Given the description of an element on the screen output the (x, y) to click on. 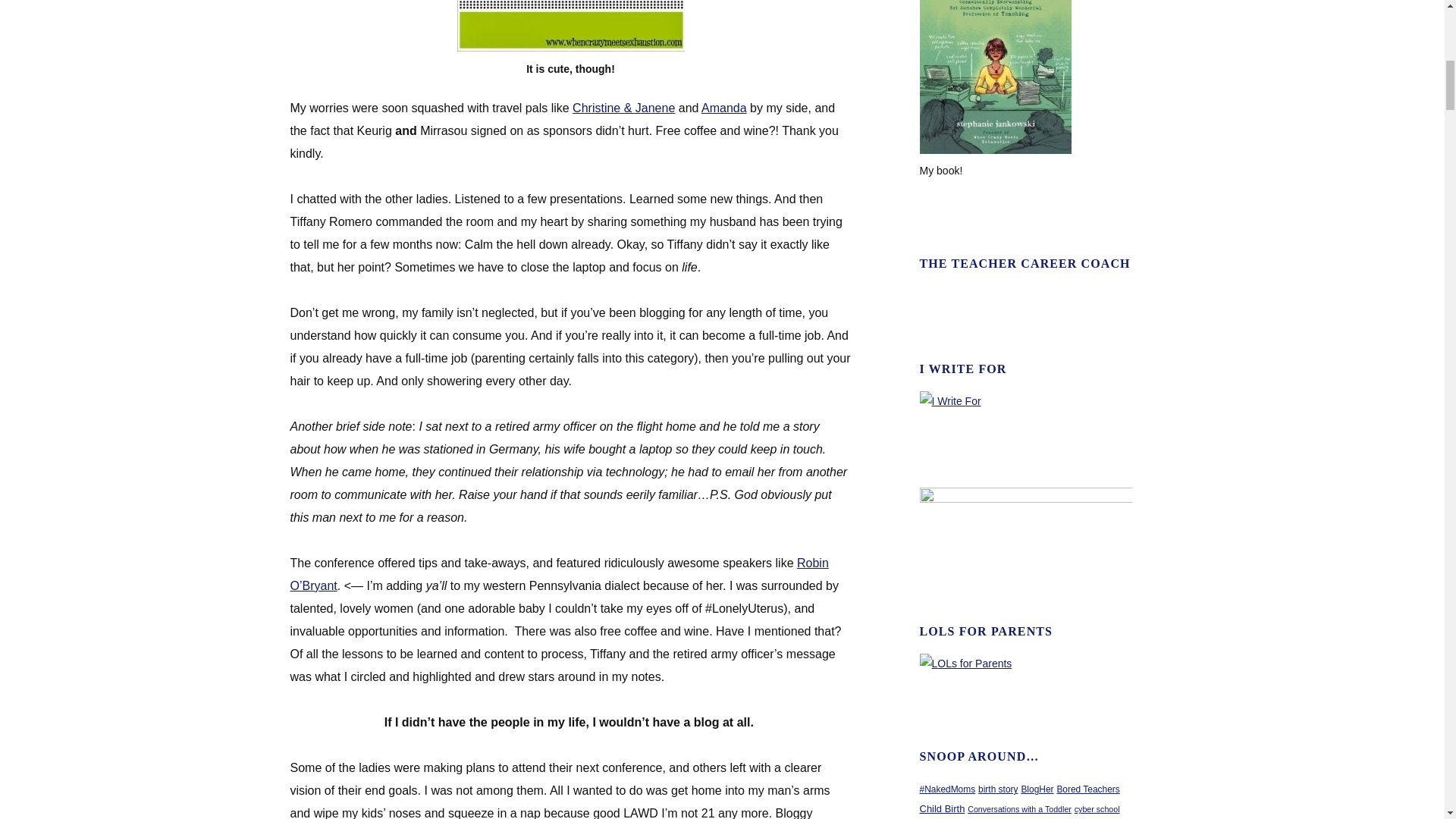
I Write For (950, 400)
Amanda (723, 107)
LOLs for Parents (965, 663)
Schooled (995, 150)
